Given the description of an element on the screen output the (x, y) to click on. 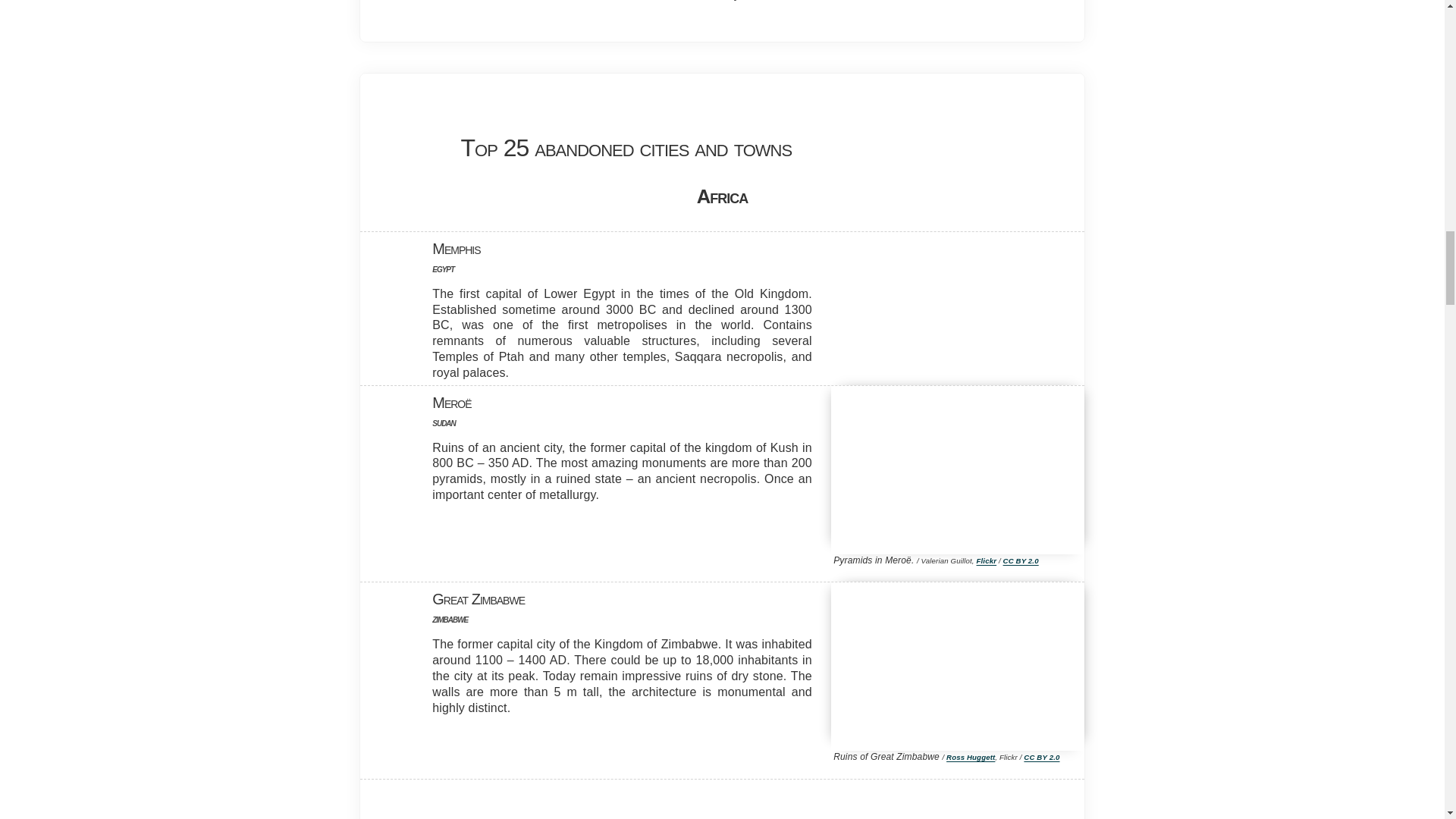
CC BY 2.0 (1041, 756)
CC BY 2.0 (1021, 560)
Ross Huggett (970, 756)
Flickr (986, 560)
